Given the description of an element on the screen output the (x, y) to click on. 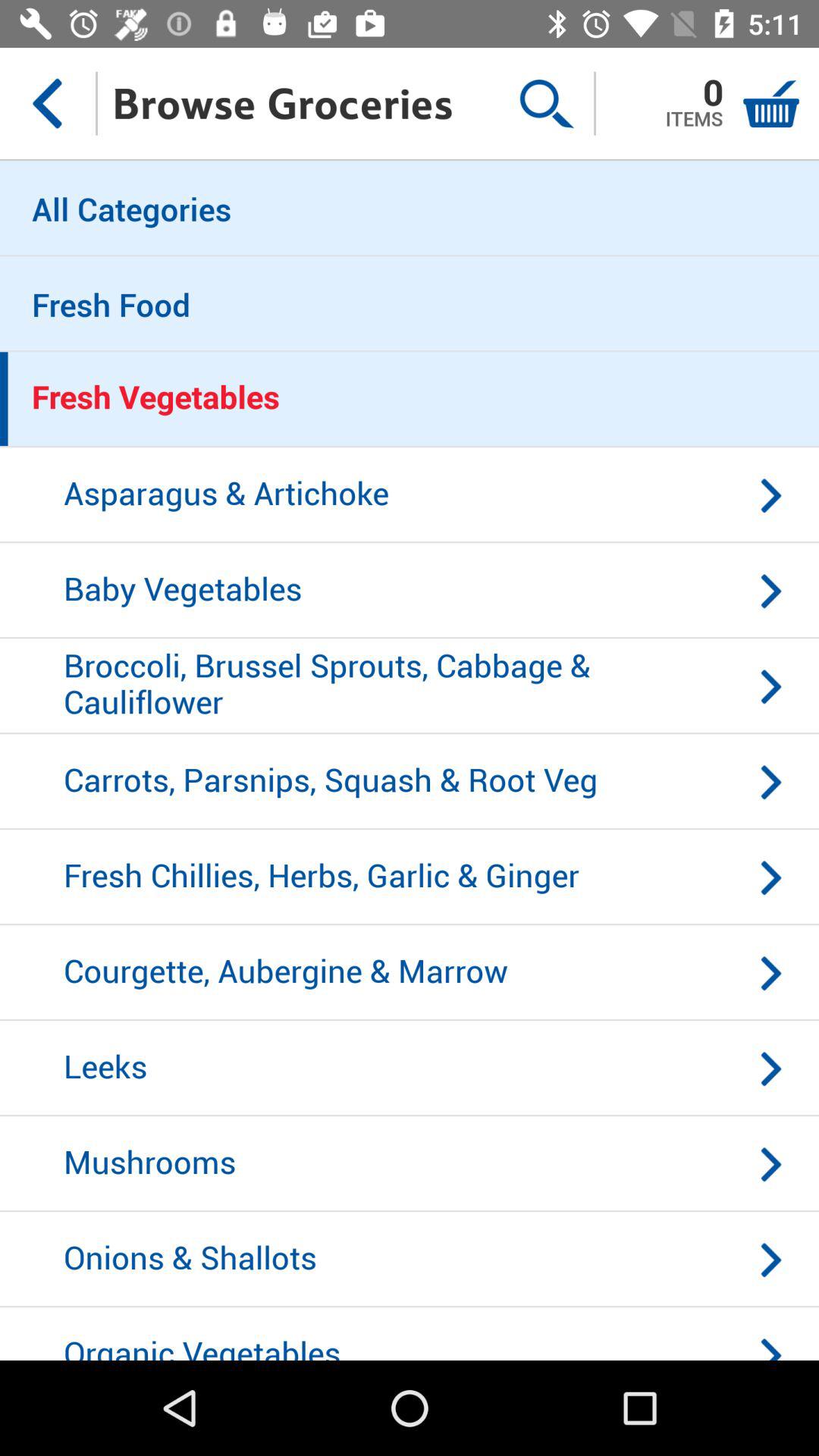
launch icon next to browse groceries icon (545, 103)
